Given the description of an element on the screen output the (x, y) to click on. 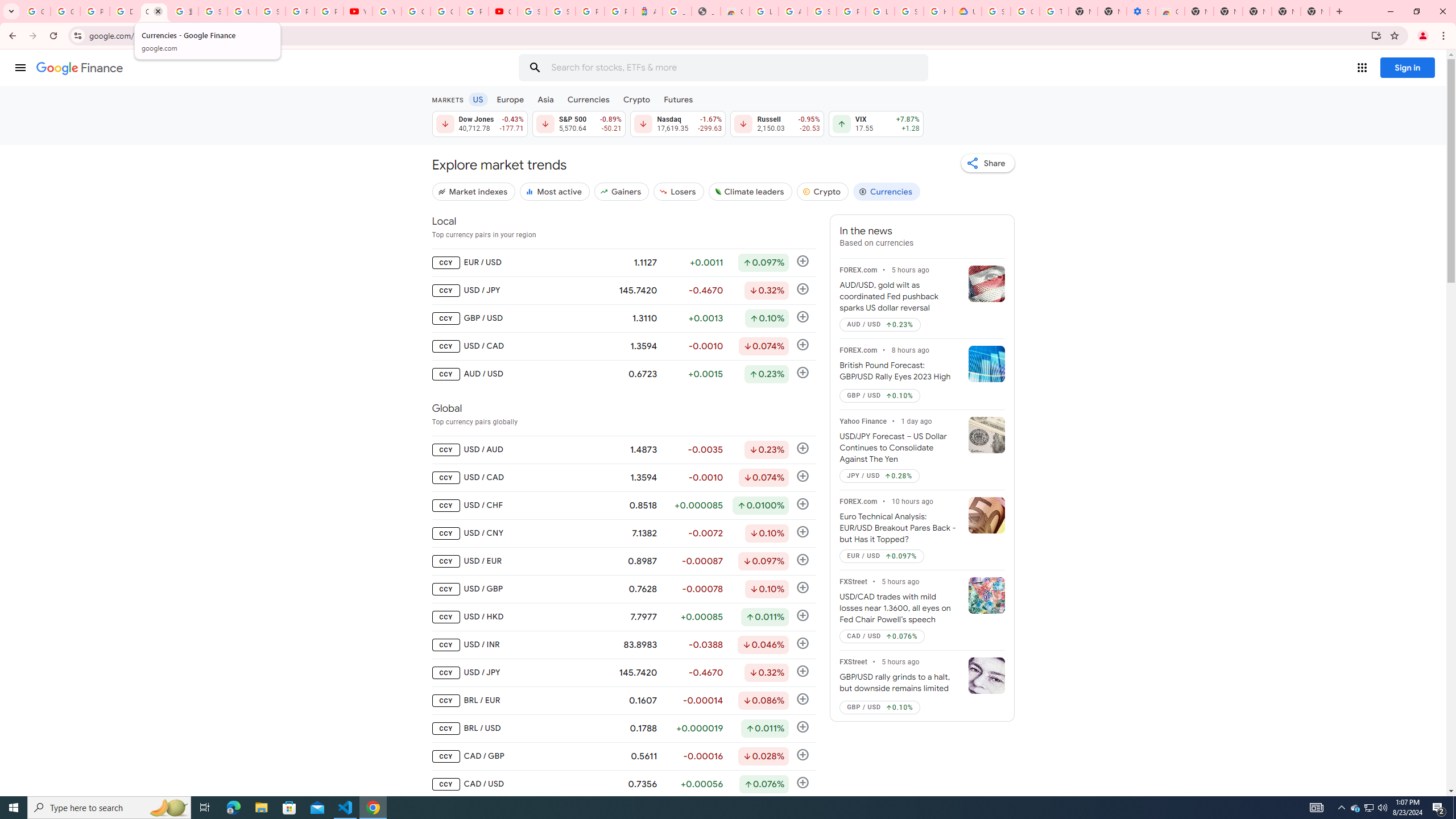
Sign in - Google Accounts (908, 11)
Sign in (1407, 67)
Sign in - Google Accounts (531, 11)
CCY USD / AUD 1.4873 -0.0035 Down by 0.21% Follow (623, 449)
Finance (79, 68)
Sign in - Google Accounts (996, 11)
CCY USD / GBP 0.7628 -0.00078 Down by 0.078% Follow (623, 589)
VIX 17.55 Up by 7.87% +1.28 (875, 123)
Privacy Checkup (327, 11)
CCY BRL / USD 0.1788 +0.000019 Up by 0.0089% Follow (623, 728)
CCY EUR / USD 1.1127 +0.0011 Up by 0.078% Follow (623, 262)
